Given the description of an element on the screen output the (x, y) to click on. 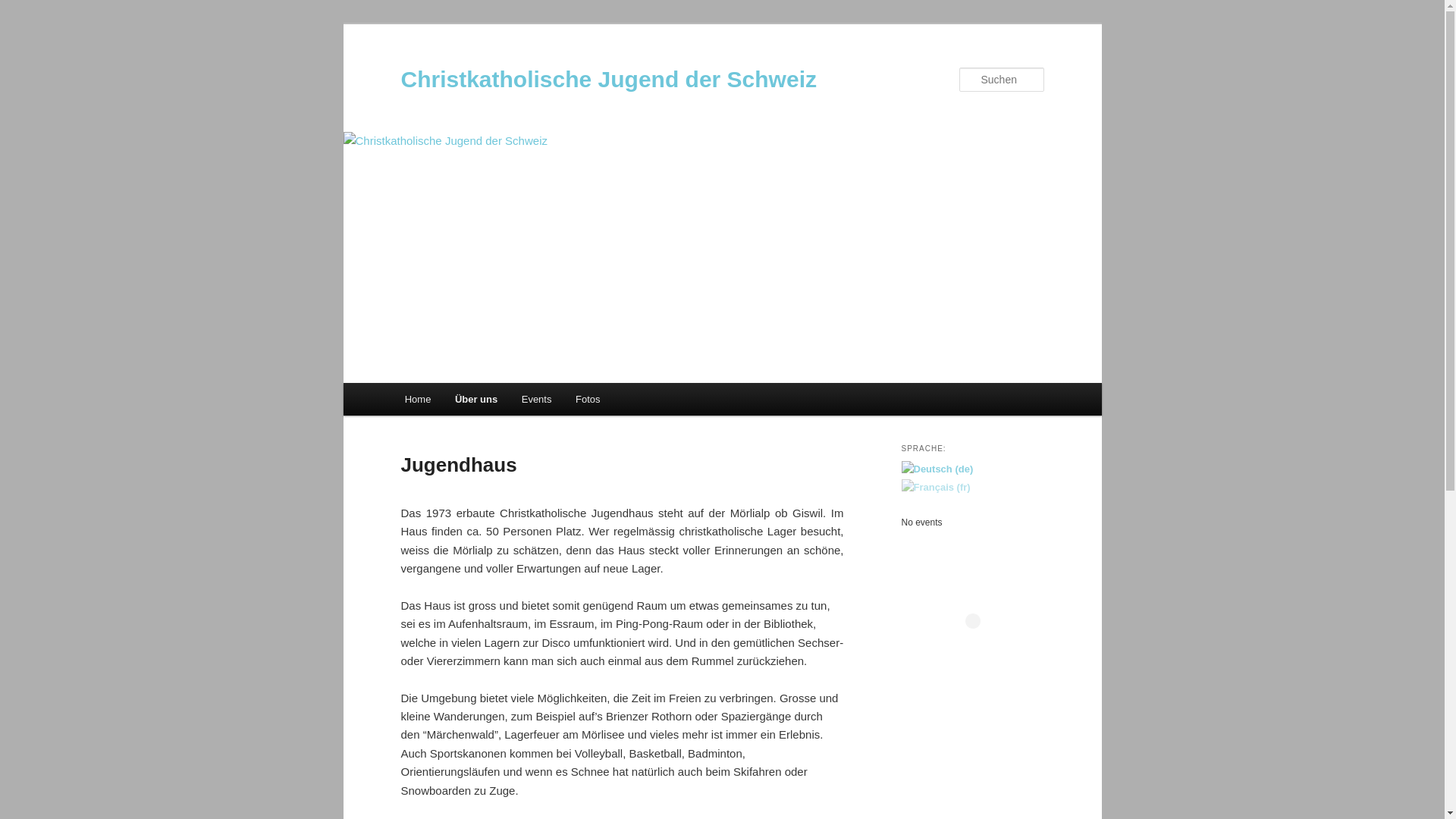
Home Element type: text (417, 398)
Zum Inhalt wechseln Element type: text (22, 22)
Deutsch (de) Element type: hover (936, 467)
Fotos Element type: text (587, 398)
Events Element type: text (536, 398)
Christkatholische Jugend der Schweiz Element type: text (607, 78)
Suchen Element type: text (25, 8)
